Given the description of an element on the screen output the (x, y) to click on. 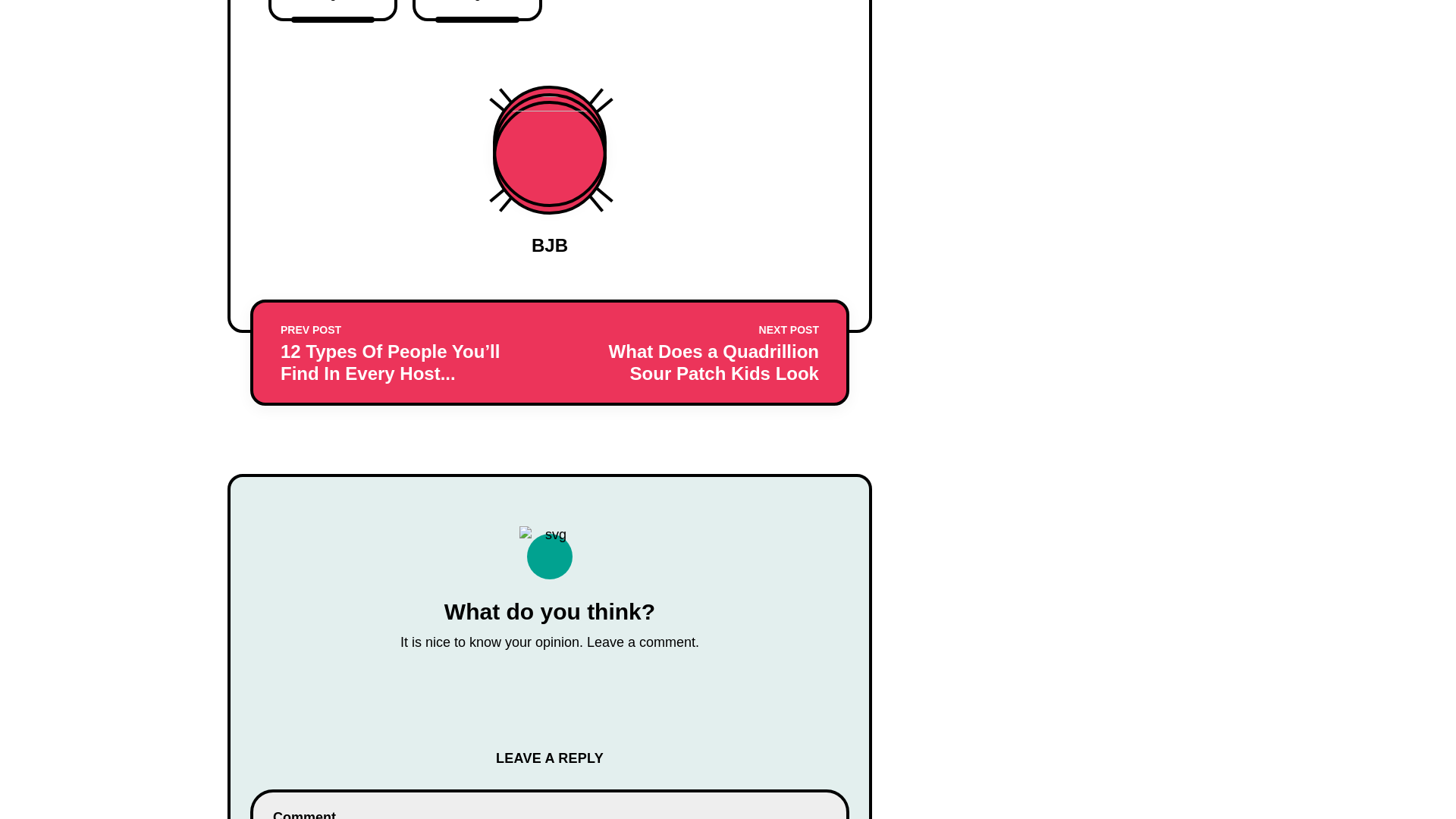
BJB (332, 11)
What Does a Quadrillion Sour Patch Kids Look Like?... (476, 11)
